Given the description of an element on the screen output the (x, y) to click on. 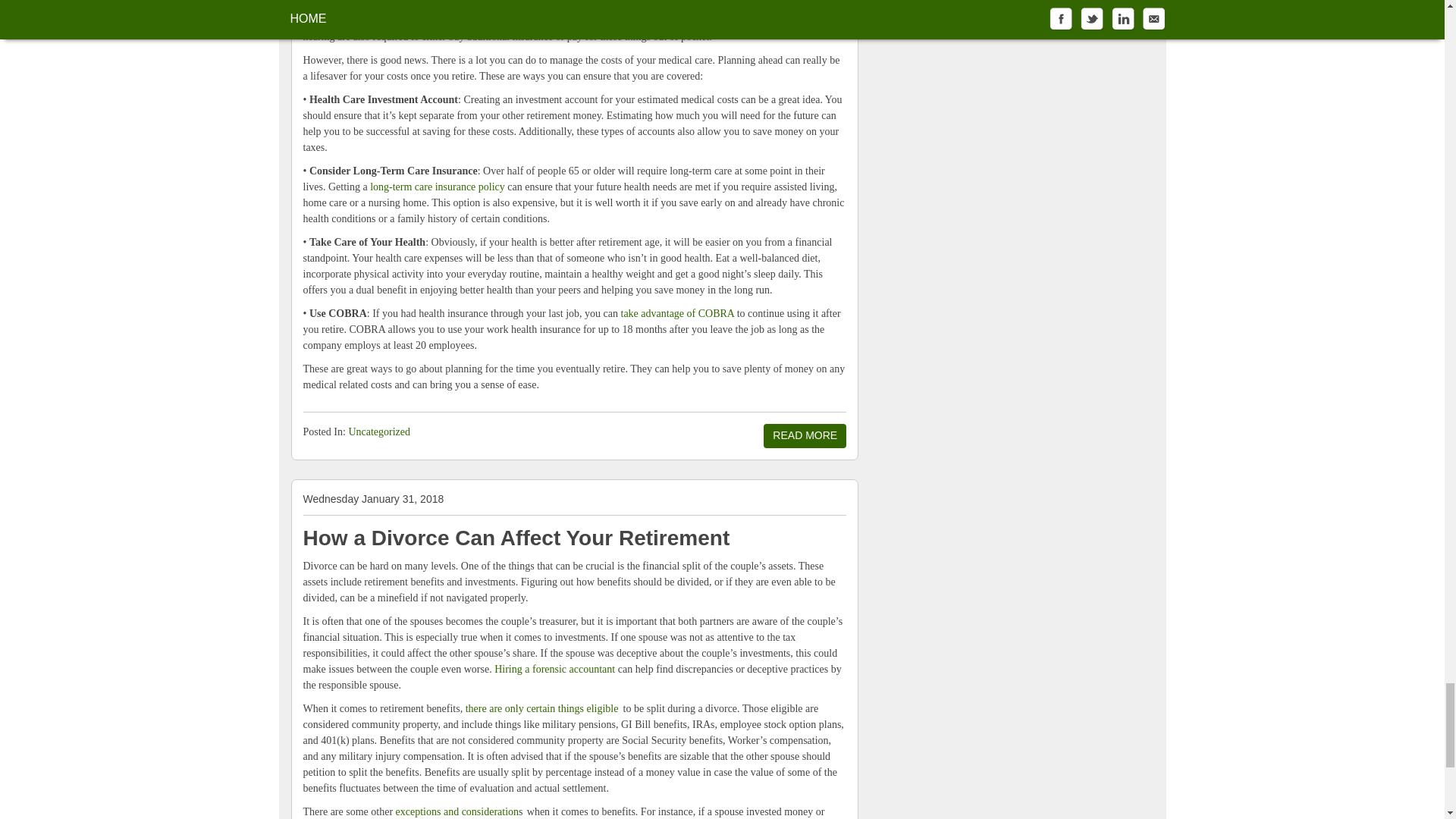
View all posts in Uncategorized (378, 431)
